Given the description of an element on the screen output the (x, y) to click on. 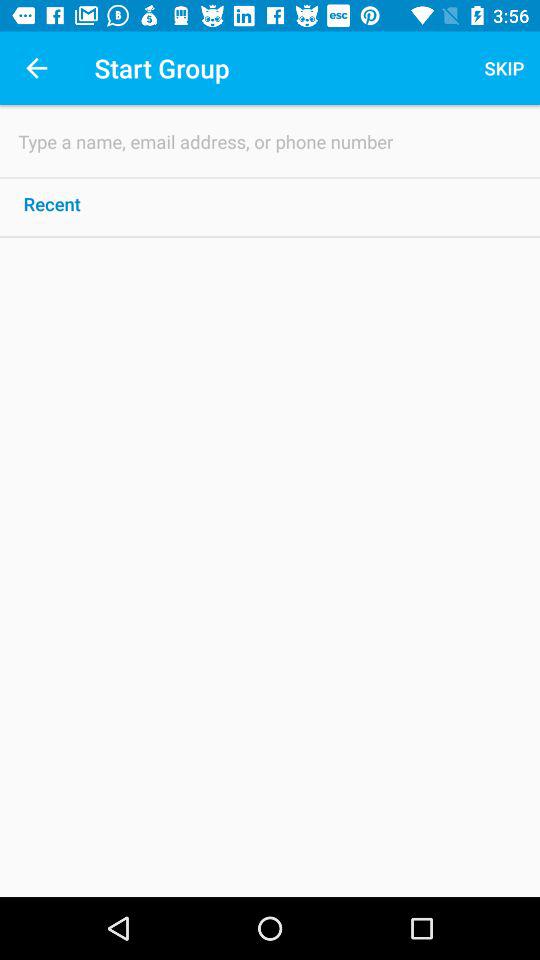
tap icon above recent (270, 141)
